Given the description of an element on the screen output the (x, y) to click on. 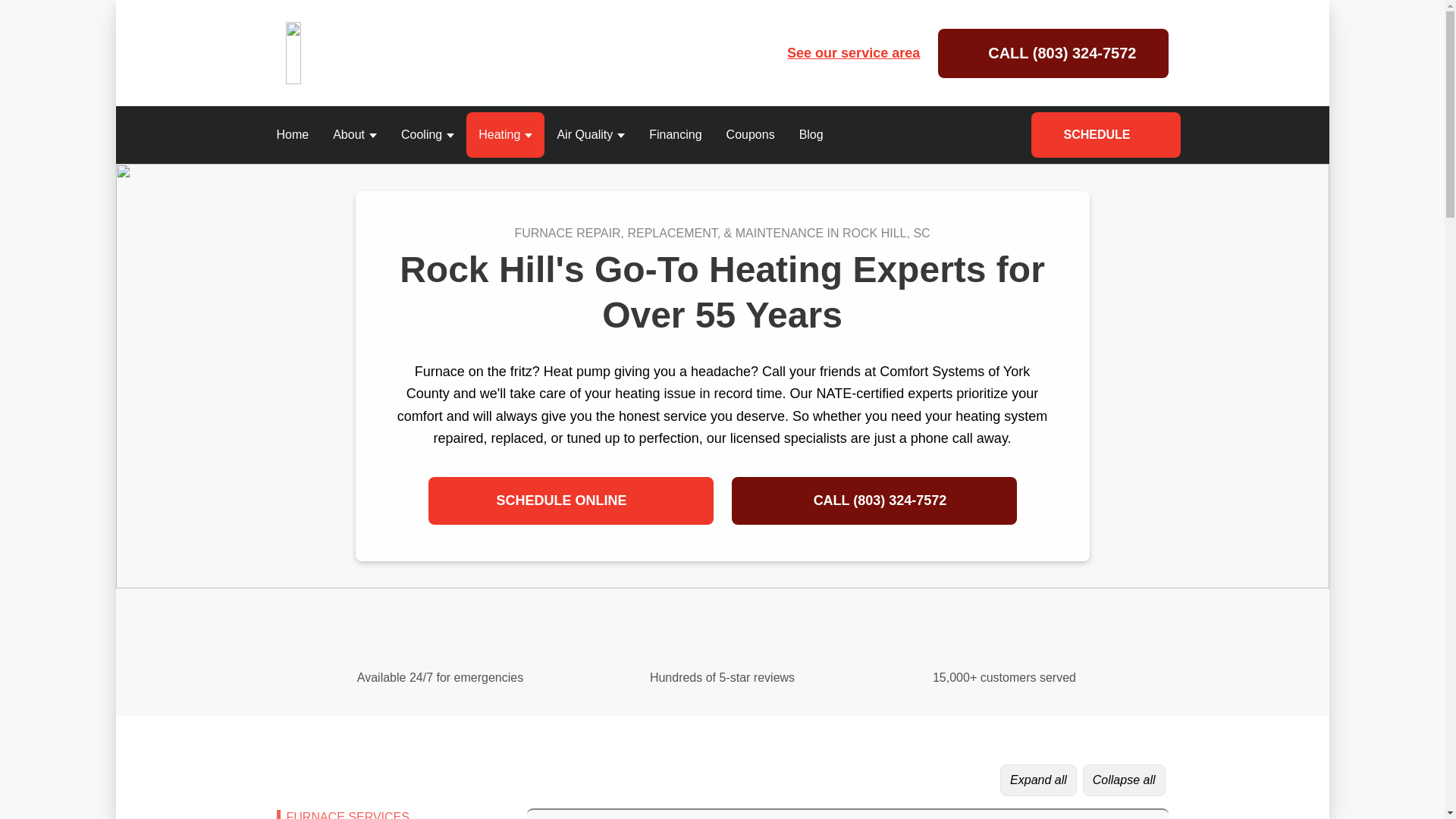
Home (291, 135)
See our service area (842, 52)
